Given the description of an element on the screen output the (x, y) to click on. 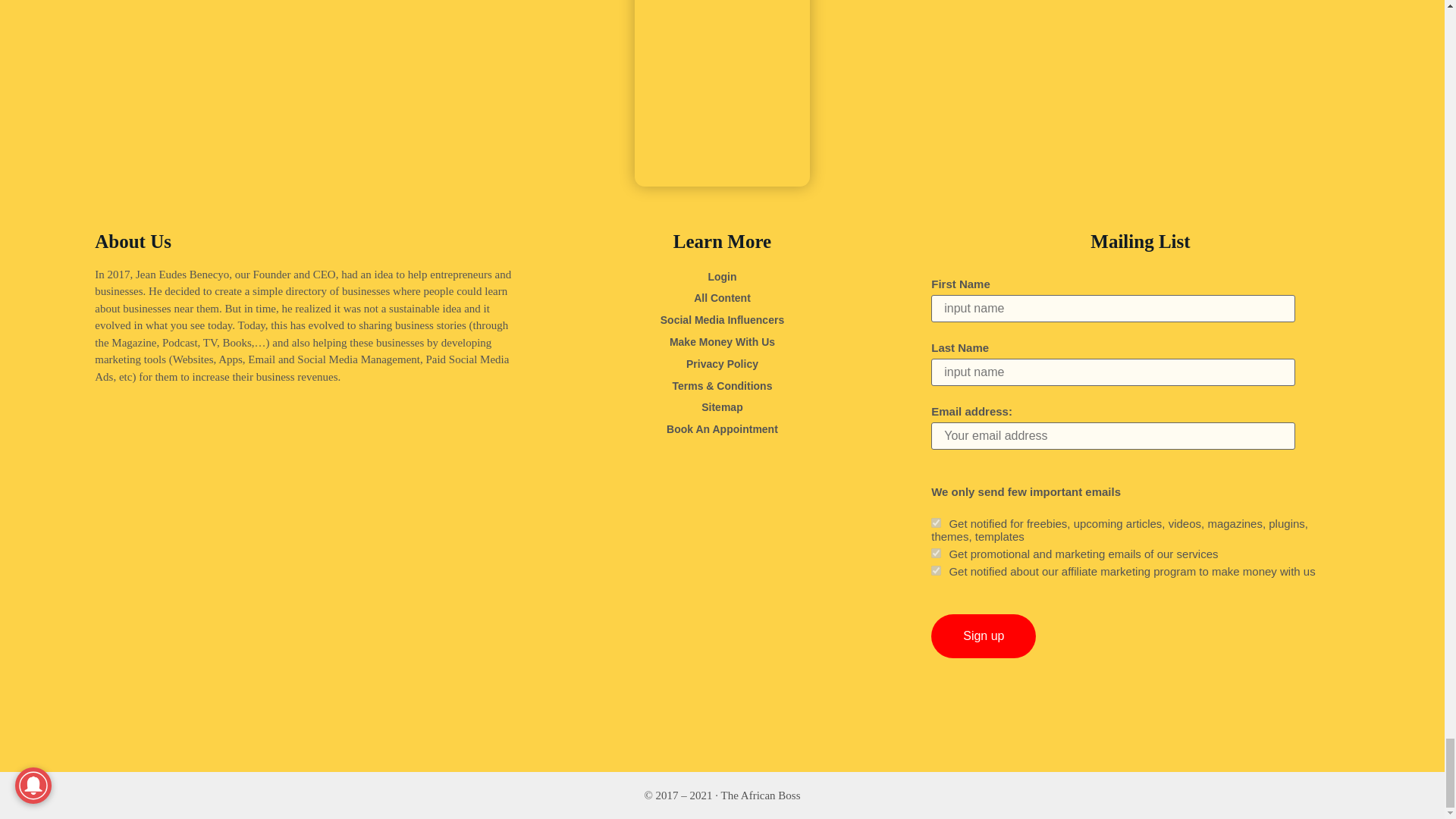
8e005c3889 (935, 522)
5f4805c4cd (935, 552)
8ca82559c5 (935, 570)
Sign up (983, 636)
